Given the description of an element on the screen output the (x, y) to click on. 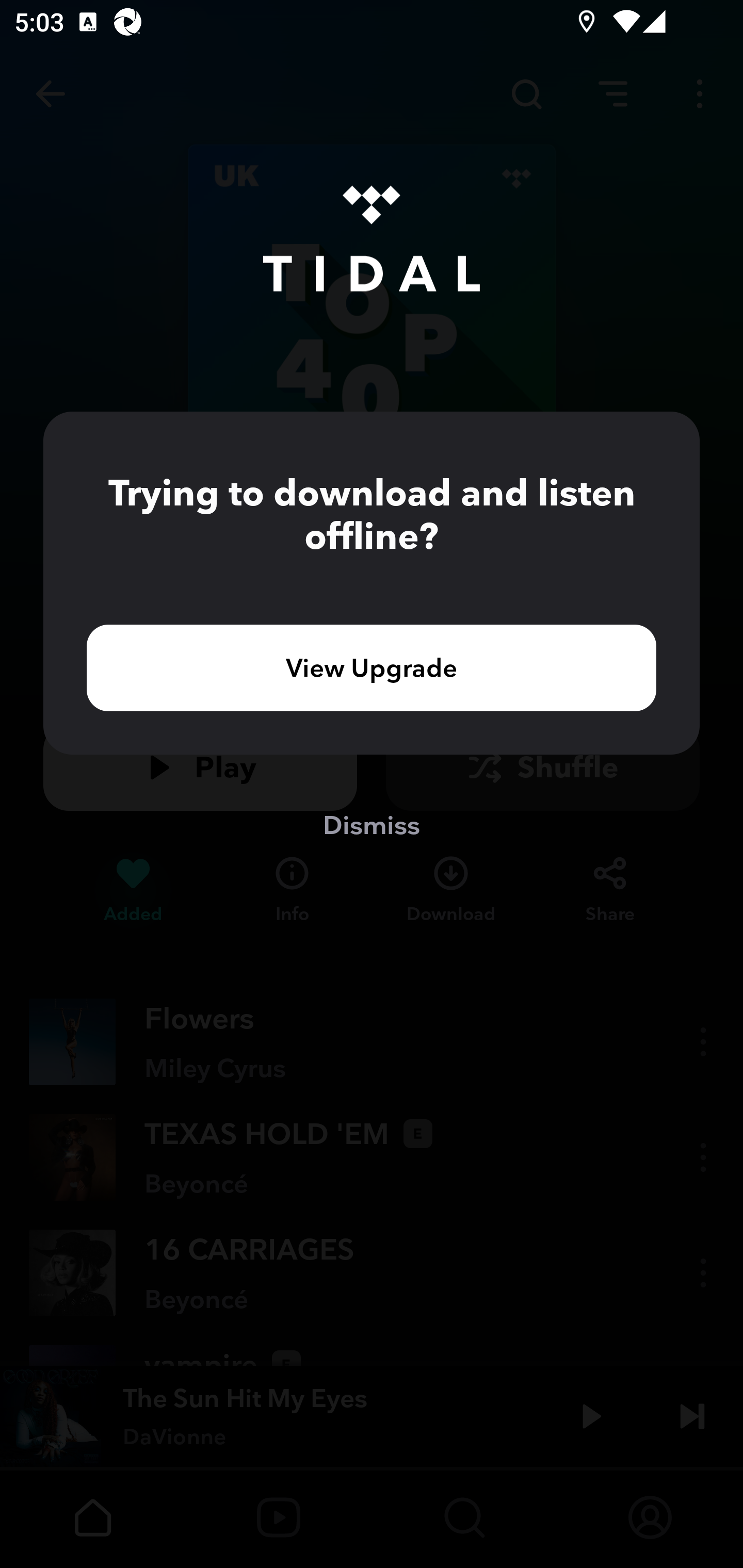
View Upgrade (371, 667)
Dismiss (371, 824)
